Given the description of an element on the screen output the (x, y) to click on. 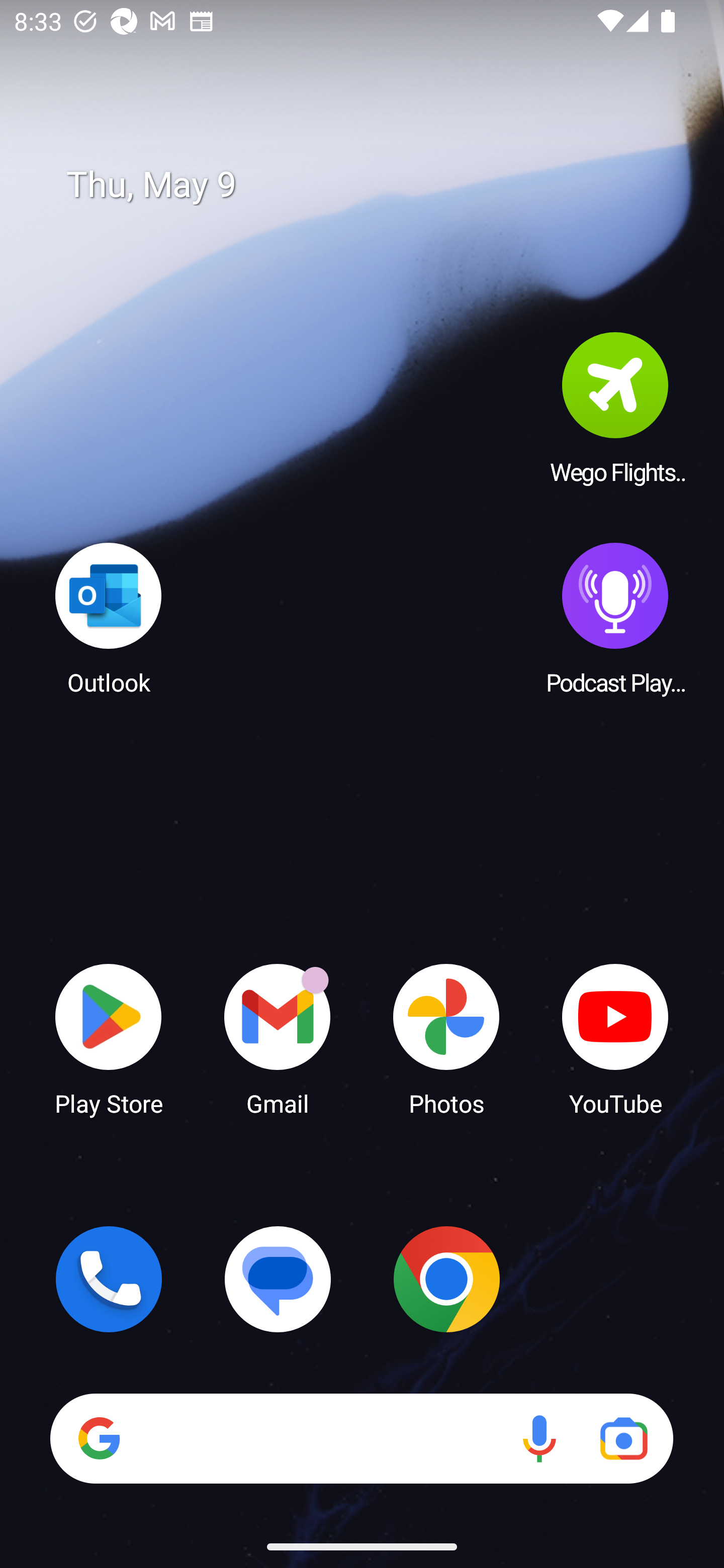
Thu, May 9 (375, 184)
Wego Flights & Hotels (615, 407)
Outlook (108, 617)
Podcast Player (615, 617)
Play Store (108, 1038)
Gmail Gmail has 18 notifications (277, 1038)
Photos (445, 1038)
YouTube (615, 1038)
Phone (108, 1279)
Messages (277, 1279)
Chrome (446, 1279)
Search Voice search Google Lens (361, 1438)
Voice search (539, 1438)
Google Lens (623, 1438)
